Given the description of an element on the screen output the (x, y) to click on. 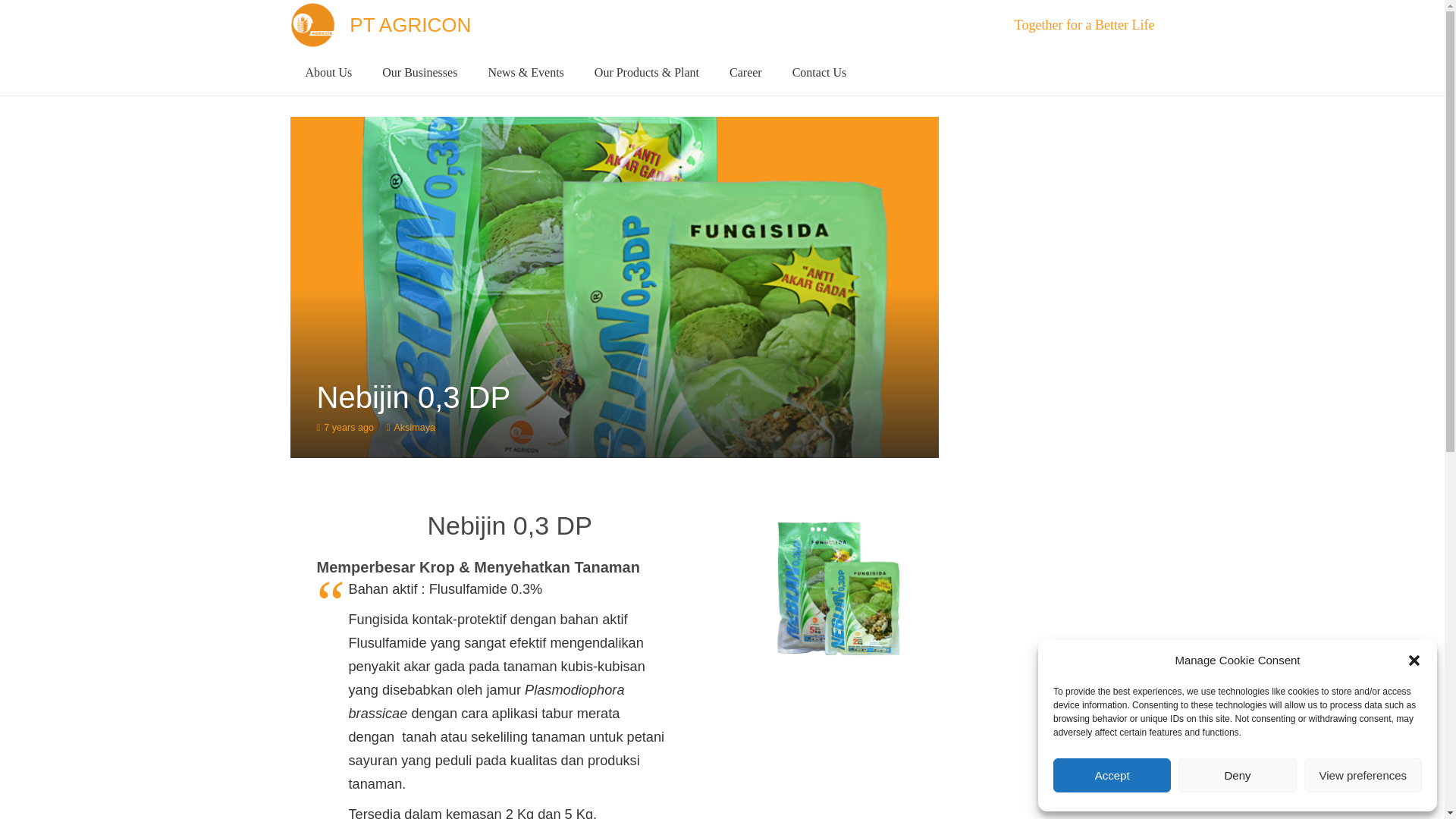
Accept (1111, 775)
View preferences (1363, 775)
Career (745, 72)
Our Businesses (418, 72)
Contact Us (819, 72)
PT AGRICON (409, 24)
Deny (1236, 775)
Aksimaya (414, 427)
About Us (327, 72)
